Given the description of an element on the screen output the (x, y) to click on. 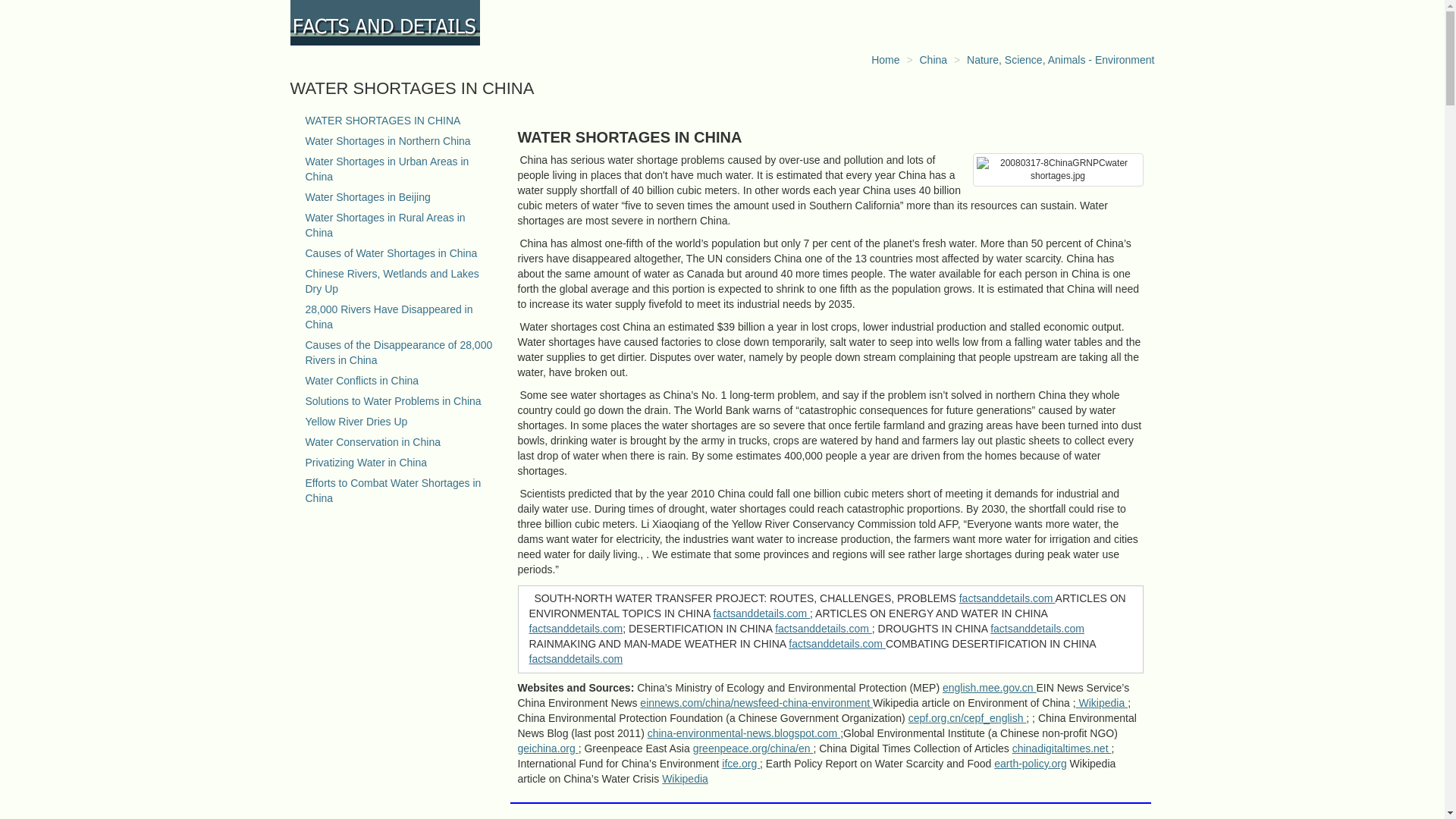
China (932, 60)
factsanddetails.com (1037, 628)
Causes of the Disappearance of 28,000 Rivers in China (398, 352)
ifce.org (741, 763)
Causes of Water Shortages in China (390, 253)
Privatizing Water in China (365, 462)
Water Conflicts in China (361, 380)
Wikipedia (684, 778)
chinadigitaltimes.net (1061, 748)
factsanddetails.com (576, 628)
